Given the description of an element on the screen output the (x, y) to click on. 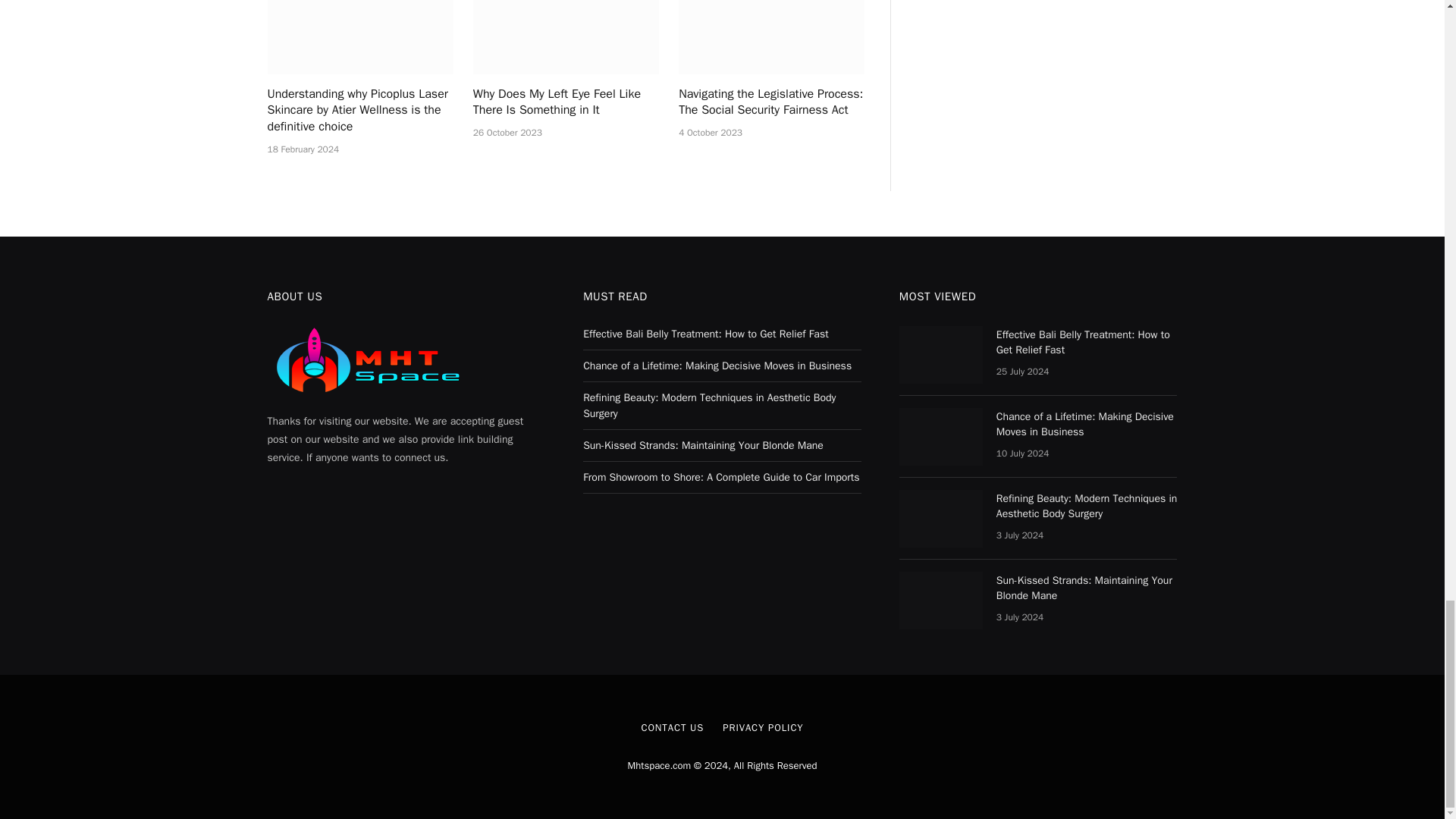
Why Does My Left Eye Feel Like There Is Something in It (566, 102)
Why Does My Left Eye Feel Like There Is Something in It (566, 37)
